Given the description of an element on the screen output the (x, y) to click on. 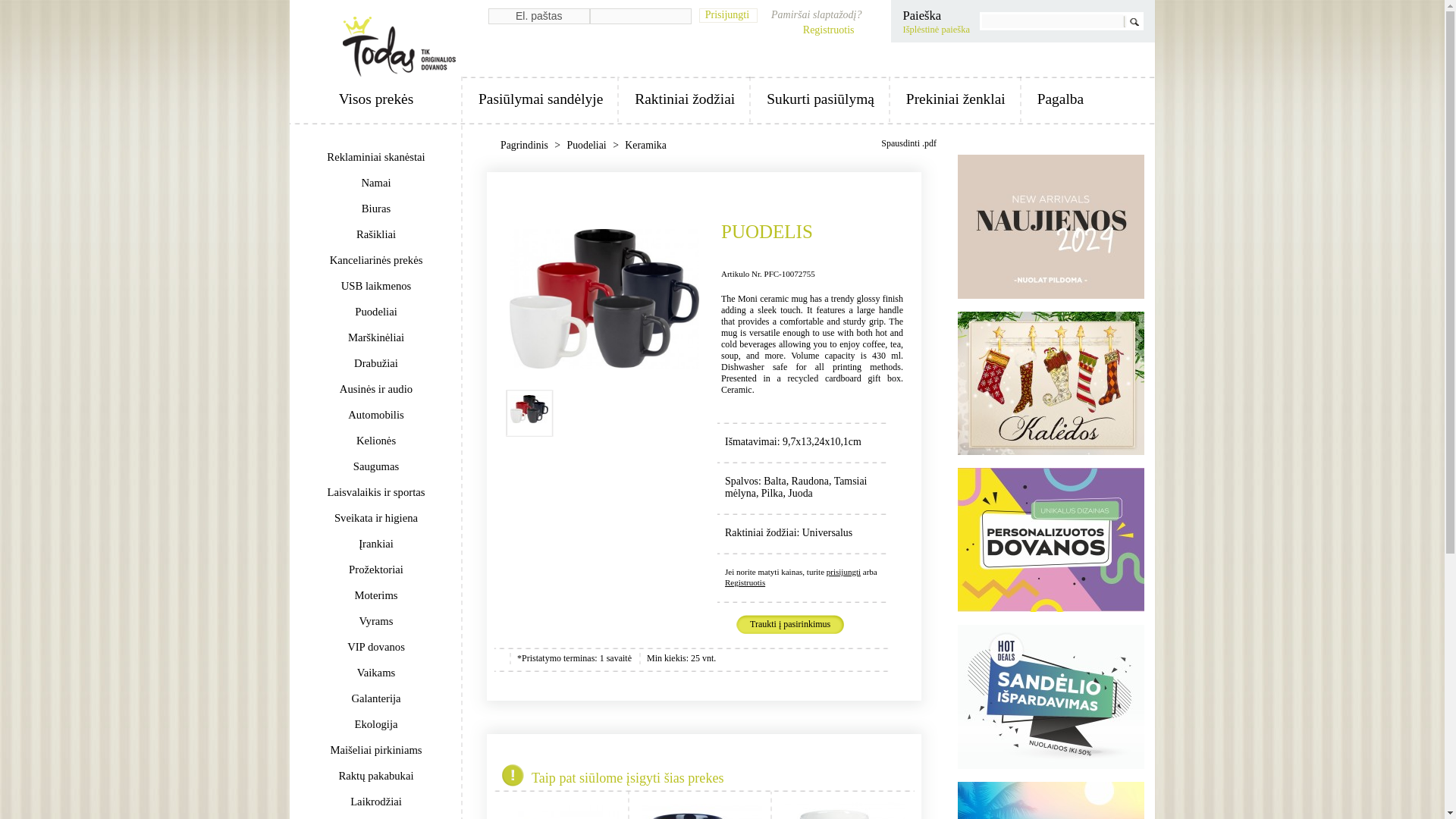
Biuras (376, 208)
Vaikams (376, 672)
submit (16, 7)
Laisvalaikis ir sportas (376, 492)
Vyrams (376, 620)
Moterims (376, 595)
Sveikata ir higiena (376, 517)
Pagalba (1060, 99)
Galanterija (376, 698)
Puodeliai (376, 311)
USB laikmenos (376, 285)
Saugumas (376, 466)
Registruotis (829, 30)
Ekologija (376, 724)
VIP dovanos (376, 646)
